Given the description of an element on the screen output the (x, y) to click on. 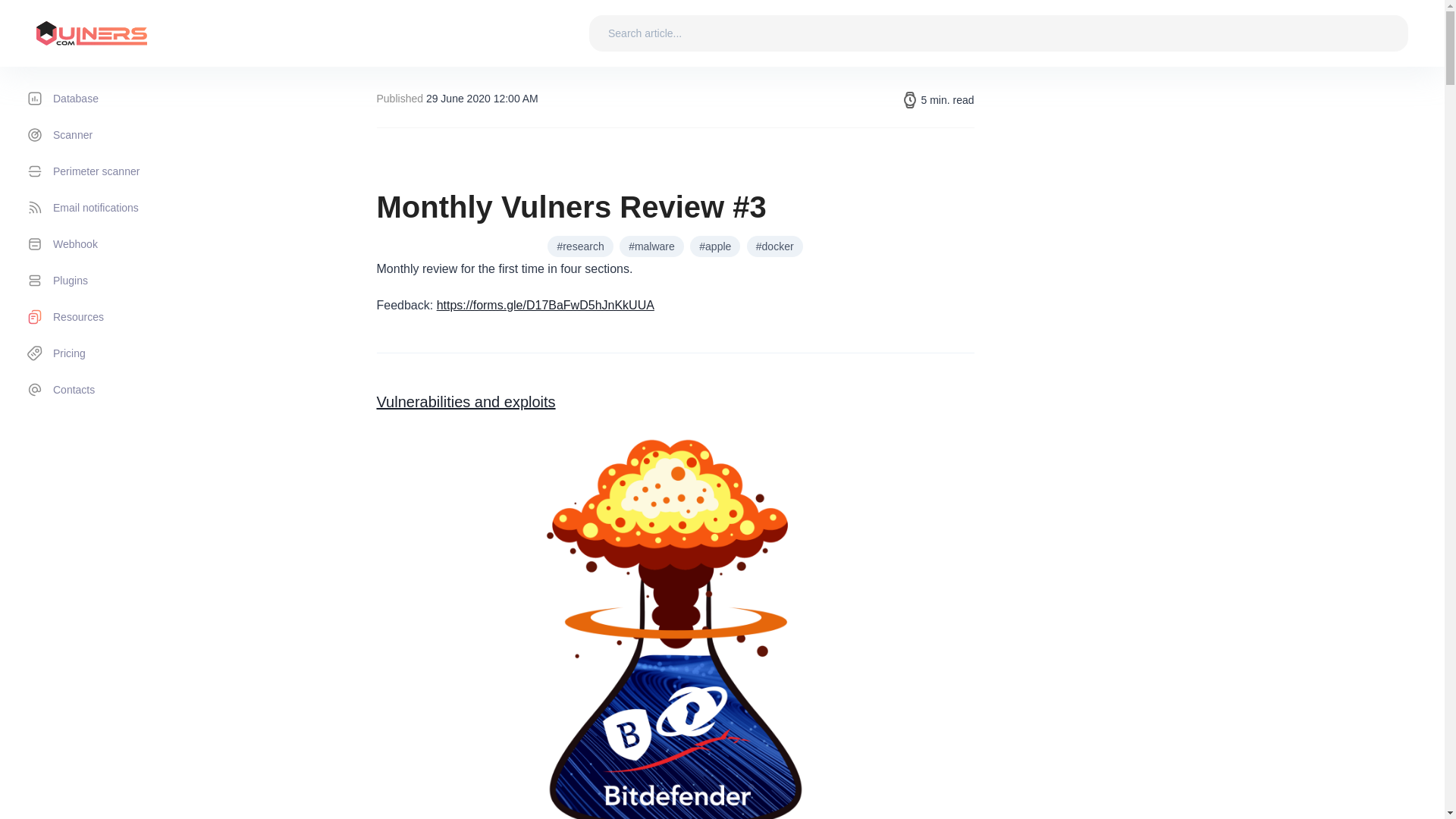
Perimeter scanner (107, 171)
Database (107, 98)
Webhook (107, 244)
Pricing (107, 352)
Contacts (107, 389)
Plugins (107, 280)
Scanner (107, 135)
Email notifications (107, 207)
Resources (107, 316)
Vulnerabilities and exploits (464, 401)
